Given the description of an element on the screen output the (x, y) to click on. 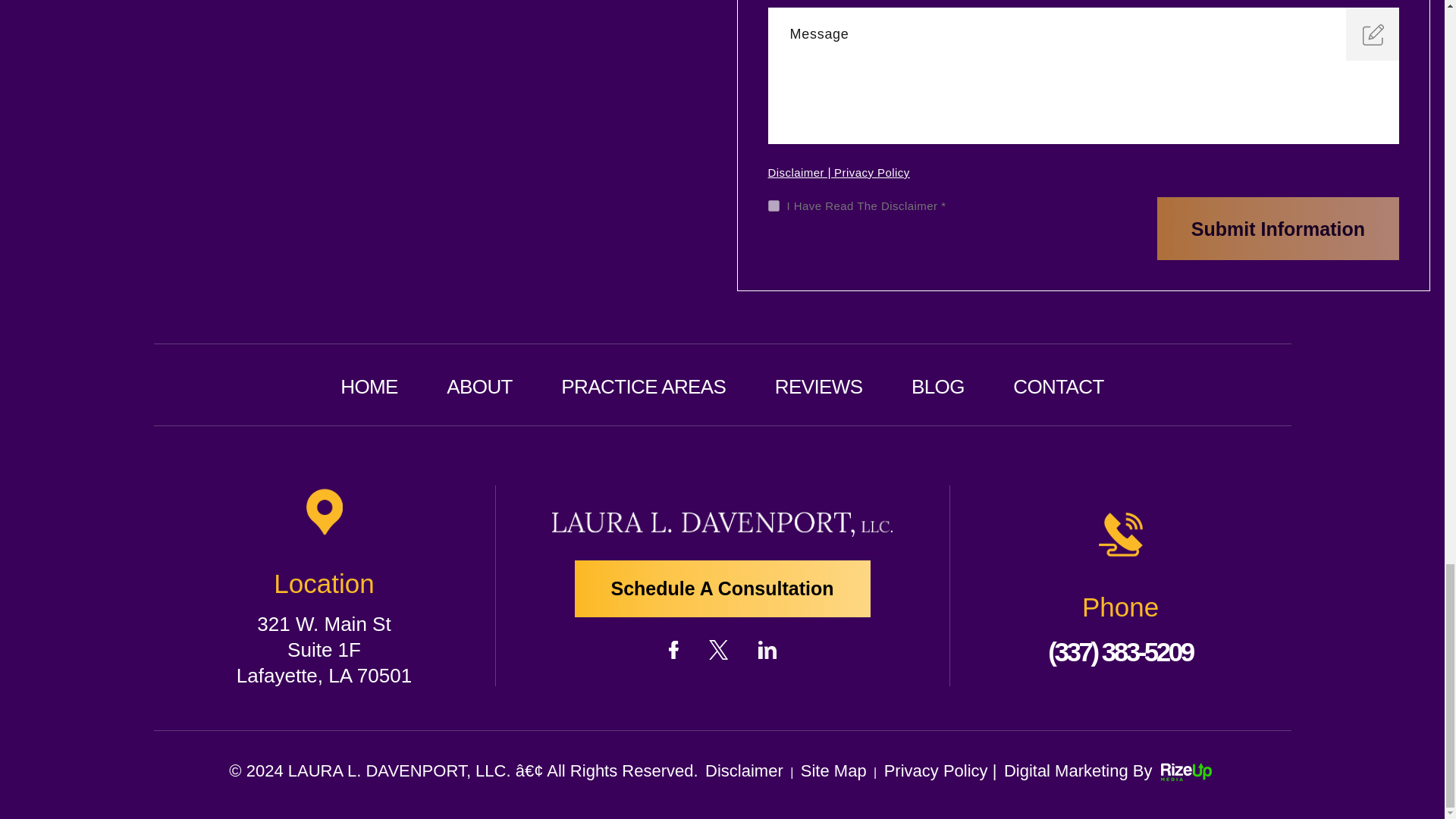
Submit Information (1278, 228)
